Given the description of an element on the screen output the (x, y) to click on. 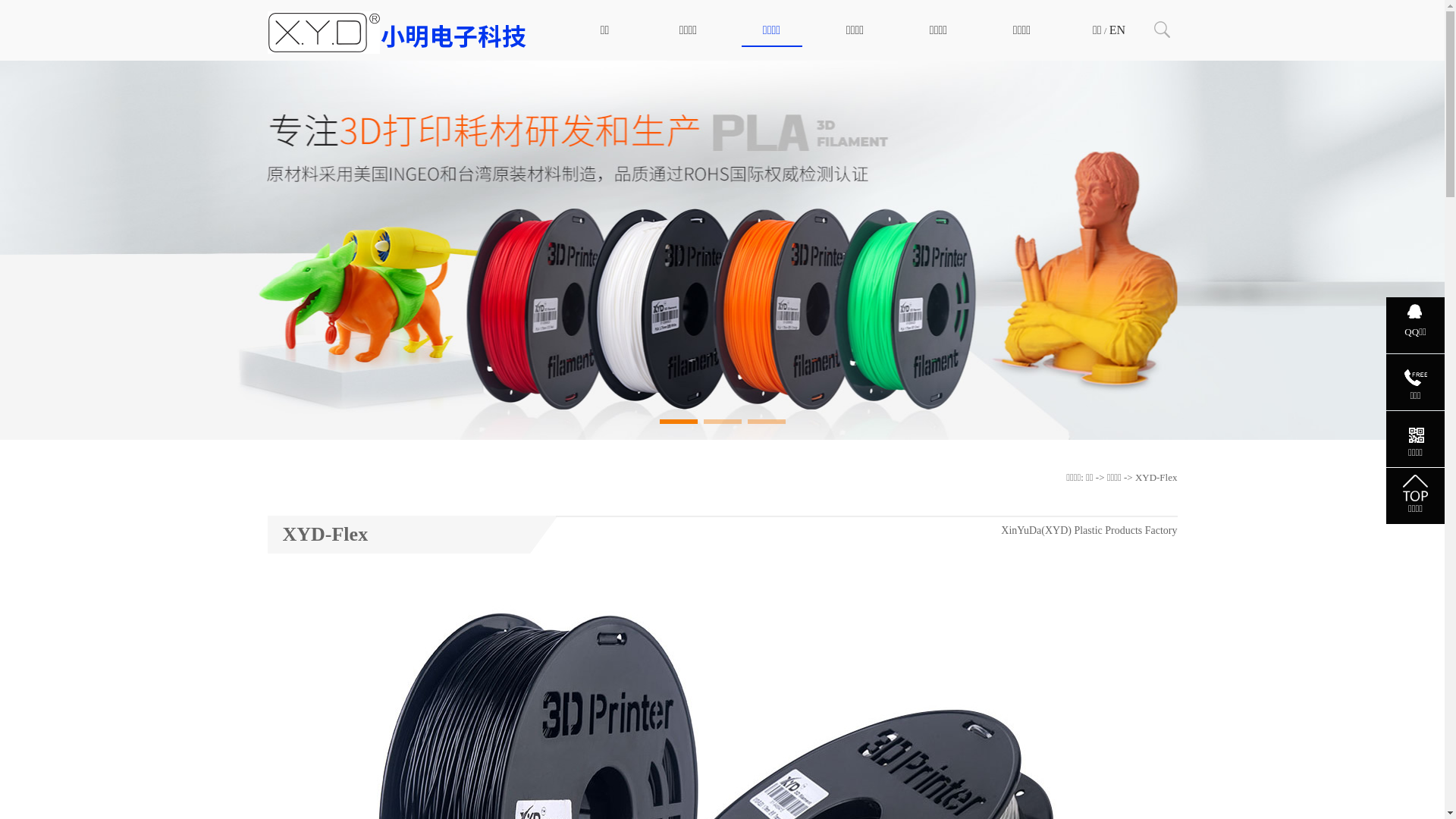
EN Element type: text (1117, 29)
